Given the description of an element on the screen output the (x, y) to click on. 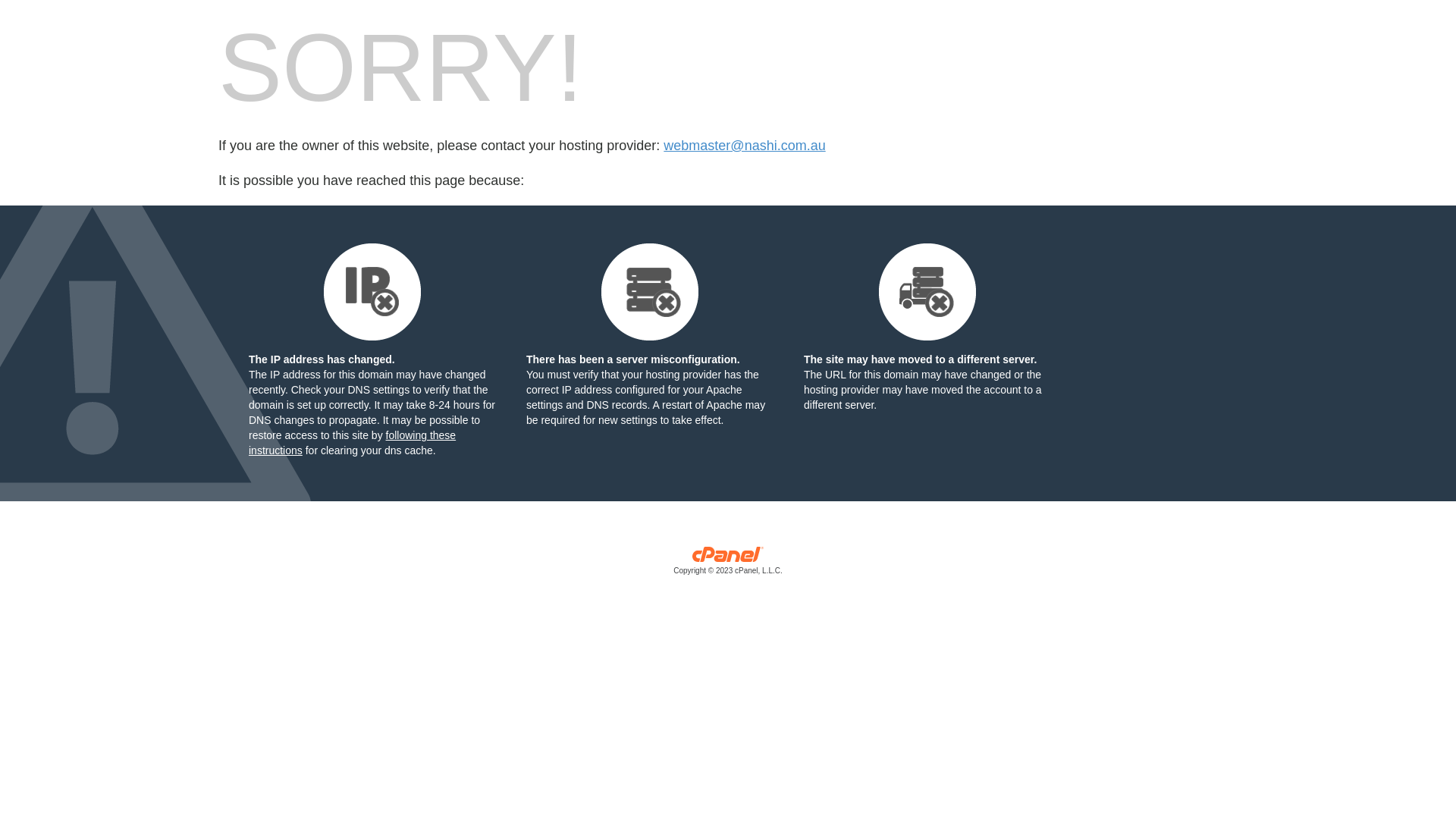
following these instructions Element type: text (351, 442)
webmaster@nashi.com.au Element type: text (744, 145)
